Given the description of an element on the screen output the (x, y) to click on. 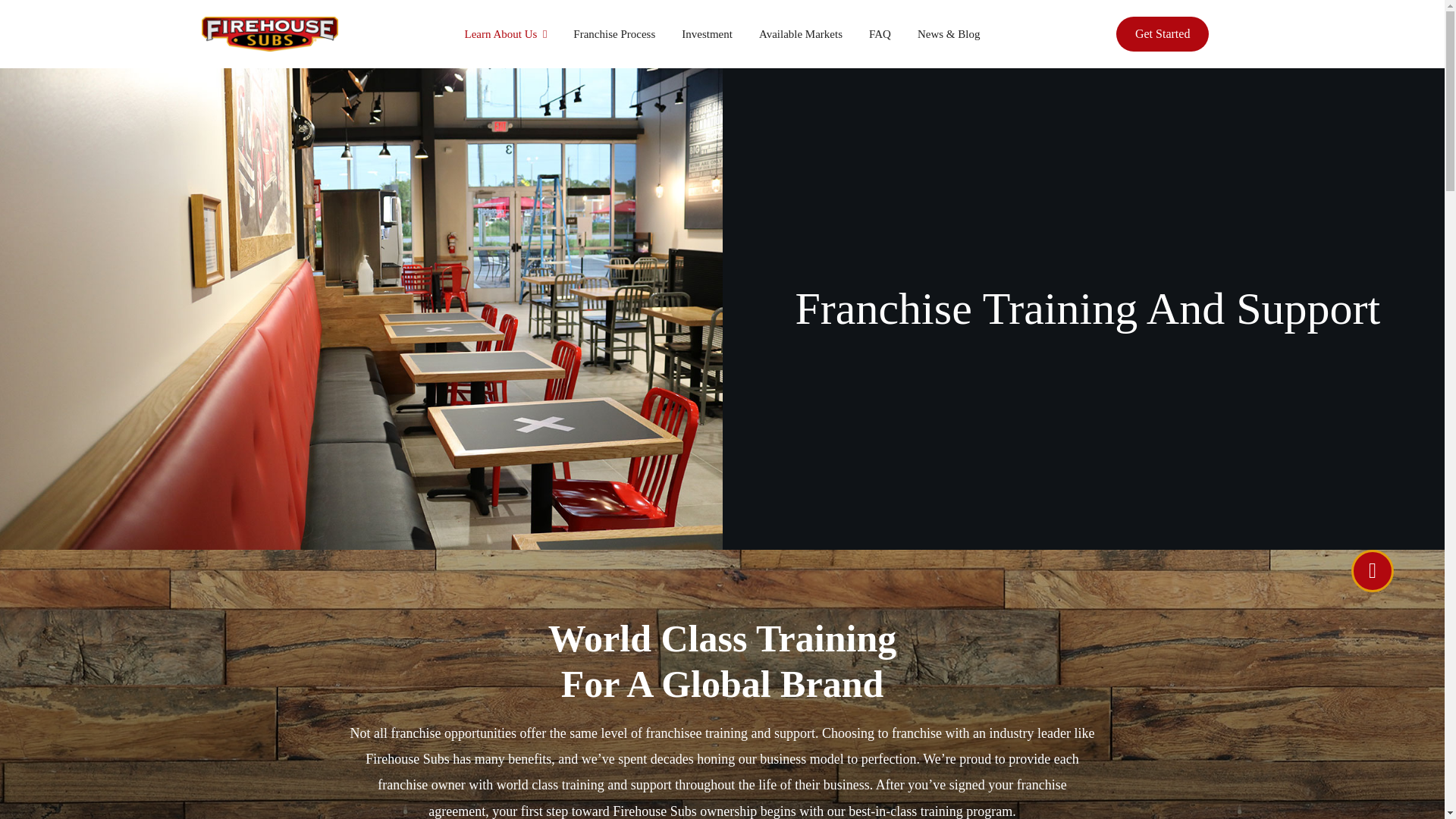
Investment (706, 33)
Get Started (1162, 33)
Get Started (1162, 33)
Learn About Us (505, 33)
Franchise Process (614, 33)
Available Markets (800, 33)
